Given the description of an element on the screen output the (x, y) to click on. 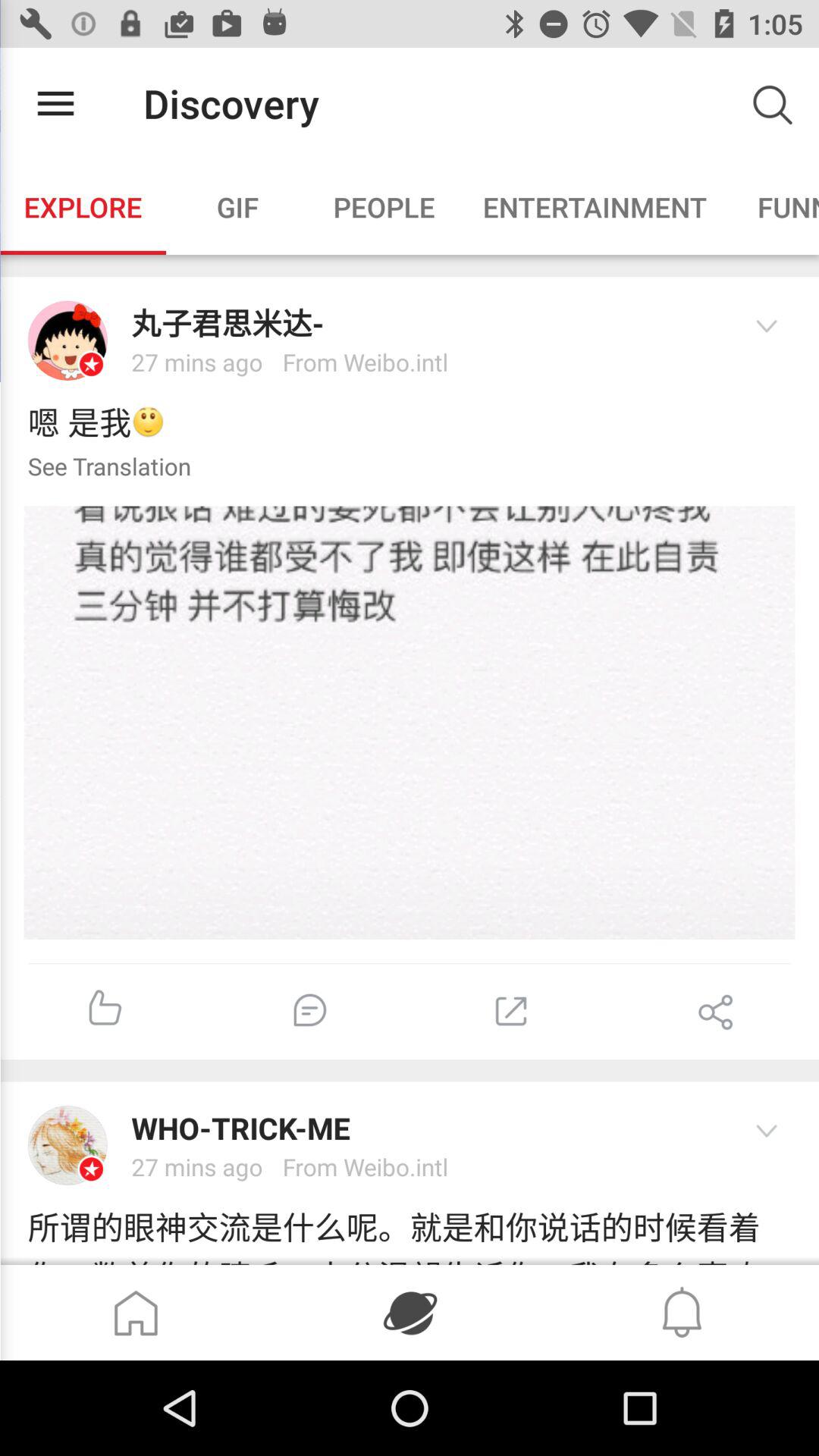
turn on app next to the discovery icon (55, 103)
